Given the description of an element on the screen output the (x, y) to click on. 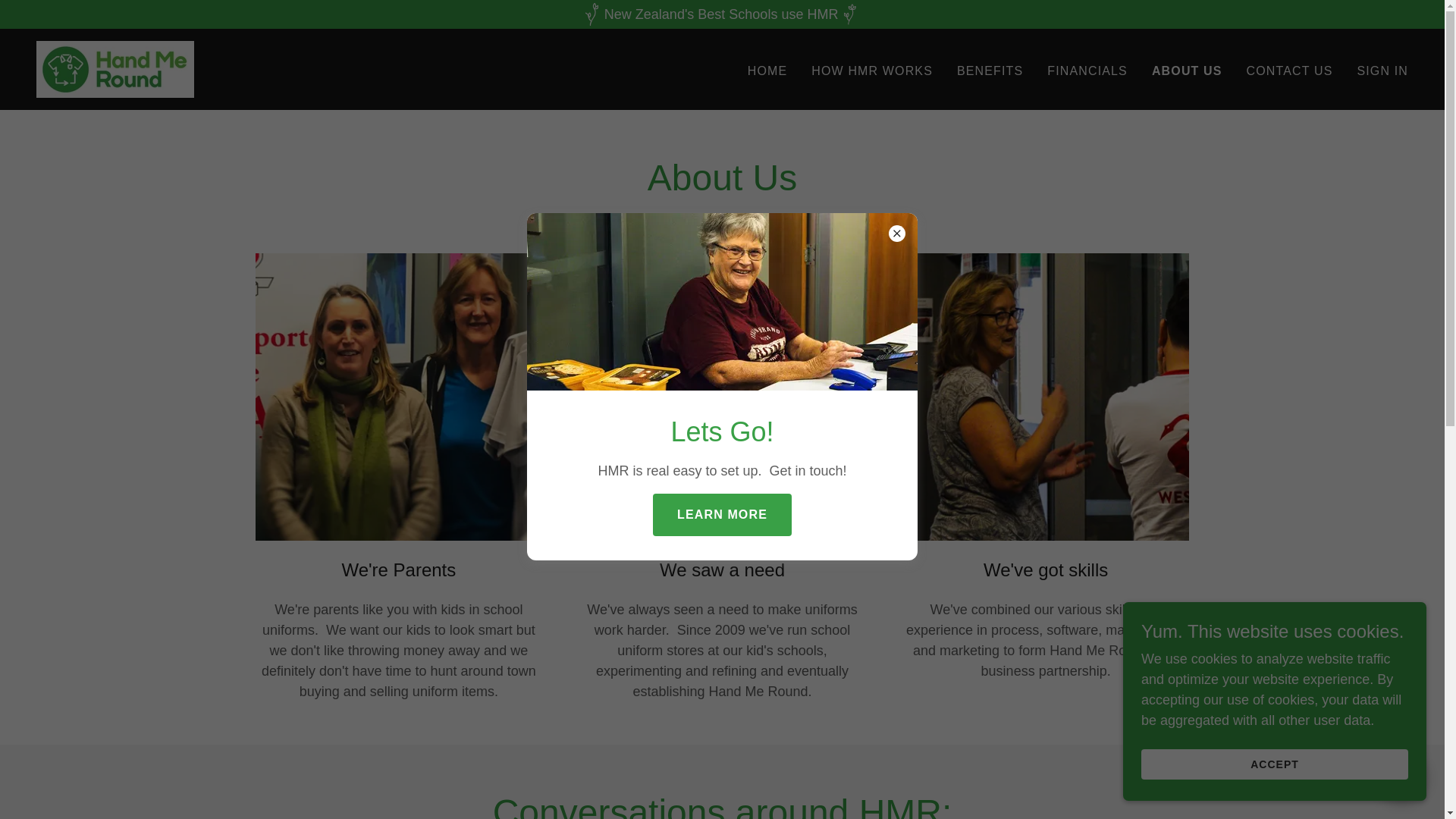
FINANCIALS (1087, 71)
CONTACT US (1289, 71)
LEARN MORE (722, 514)
HOME (767, 71)
HOW HMR WORKS (871, 71)
BENEFITS (989, 71)
SIGN IN (1382, 71)
Hand Me Round (114, 68)
ABOUT US (1187, 71)
ACCEPT (1274, 764)
